Given the description of an element on the screen output the (x, y) to click on. 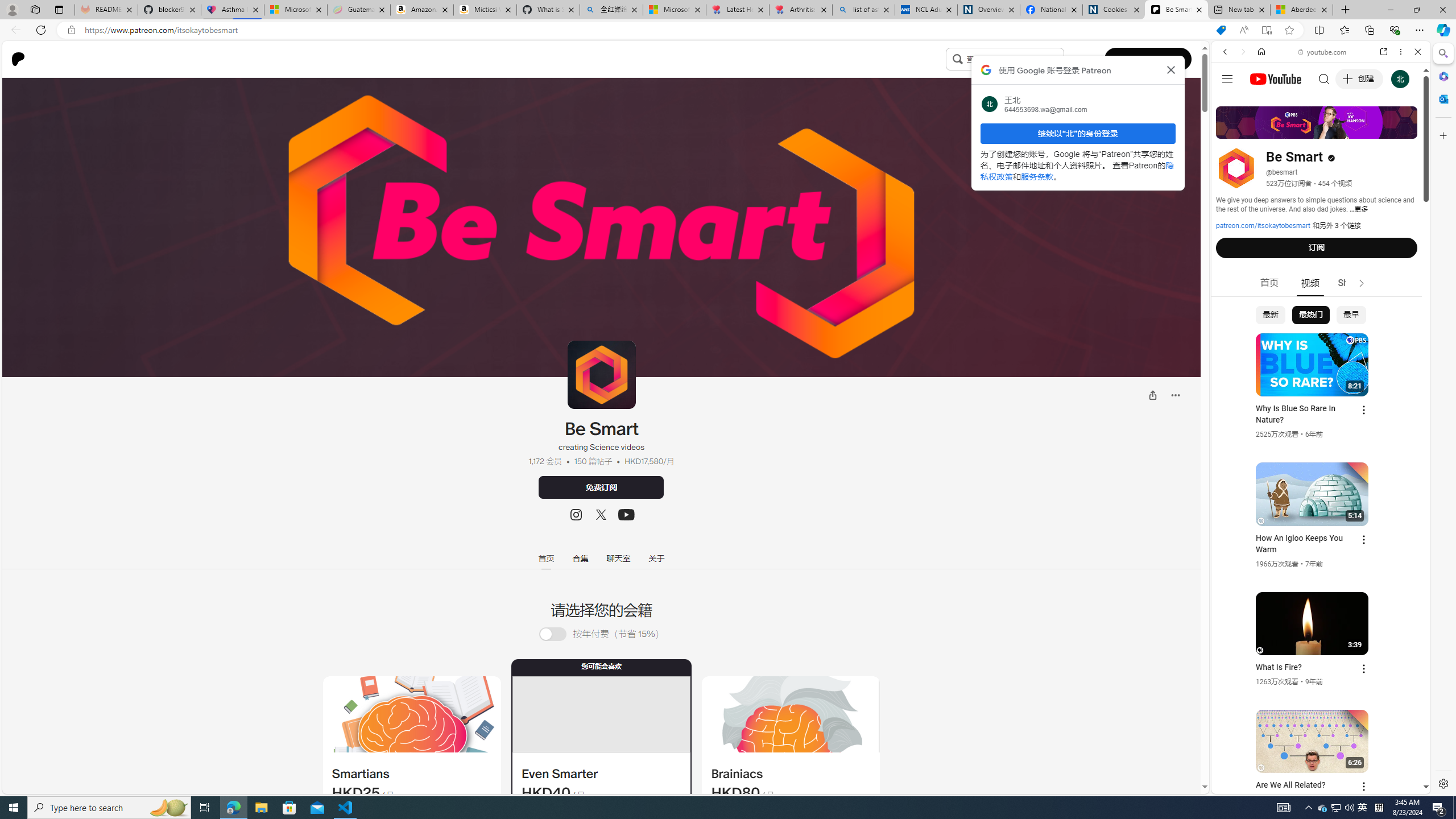
Search the web (1326, 78)
VIDEOS (1300, 130)
Music (1320, 309)
Actions for this site (1371, 661)
Enter Immersive Reader (F9) (1266, 29)
